Given the description of an element on the screen output the (x, y) to click on. 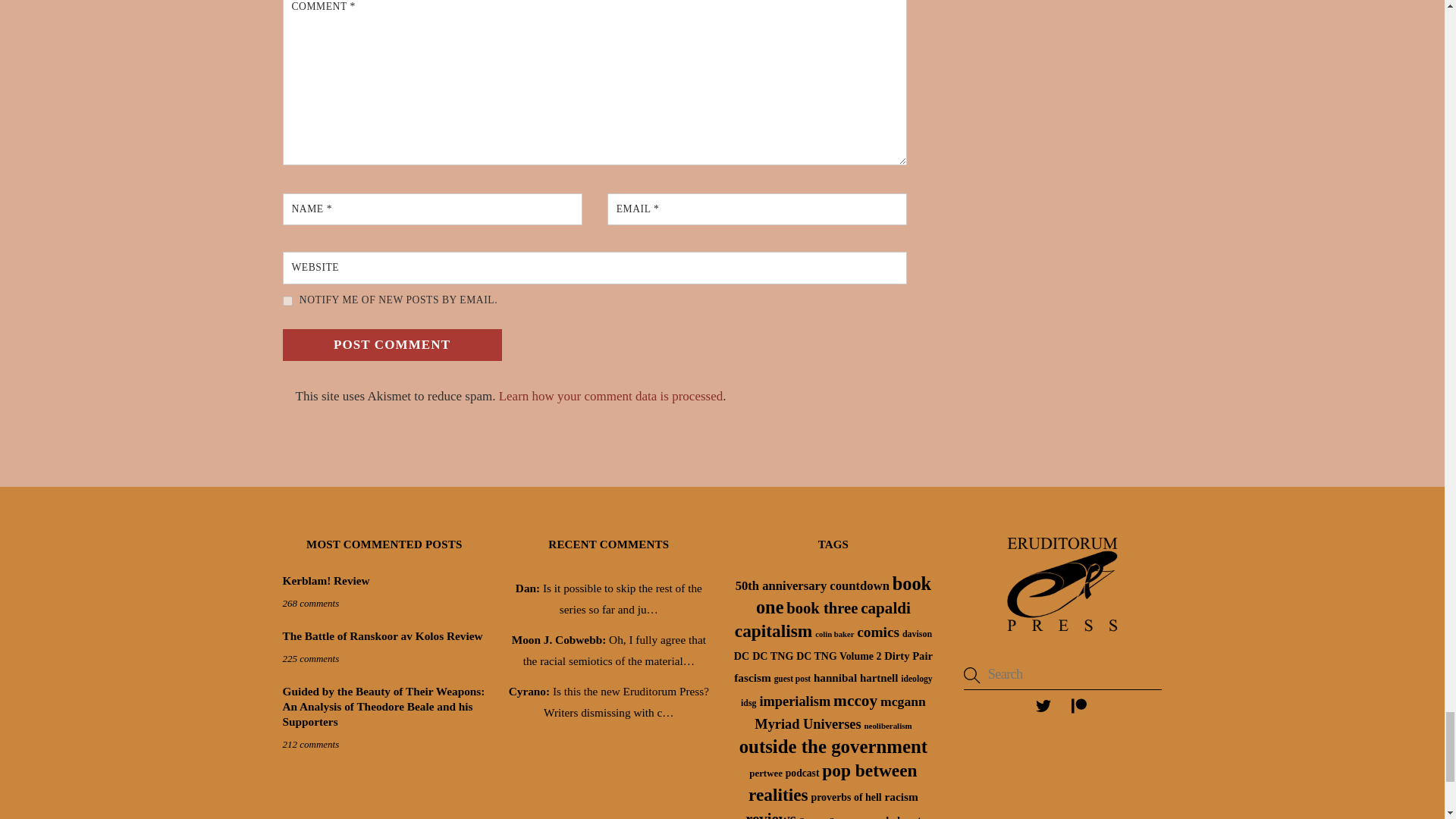
Post Comment (391, 345)
Eruditorum Press Logo (1062, 584)
Eruditorum Press (1062, 635)
Search (1062, 674)
